Given the description of an element on the screen output the (x, y) to click on. 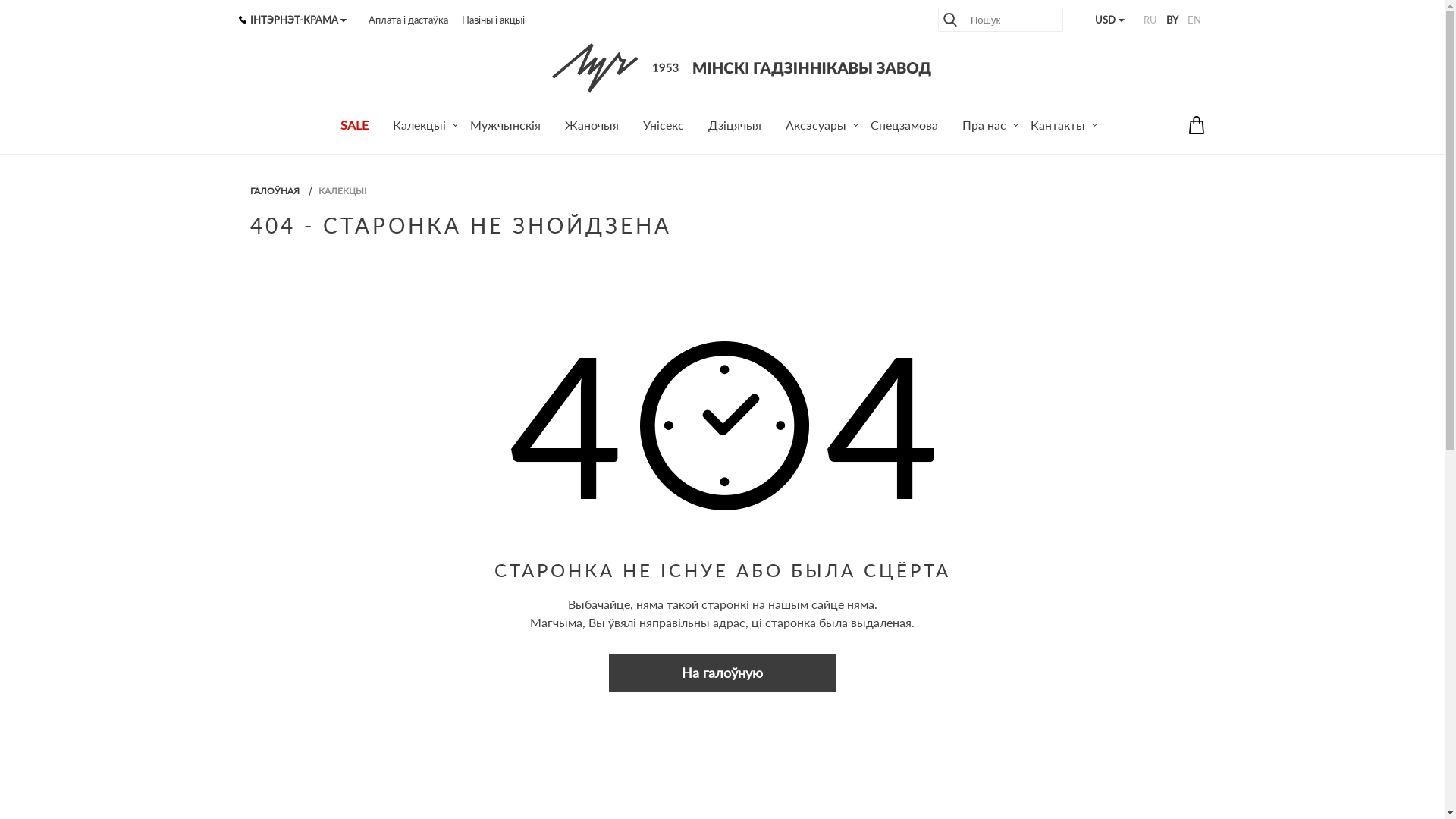
BY Element type: text (1172, 19)
EN Element type: text (1194, 19)
SALE Element type: text (354, 127)
RU Element type: text (1150, 19)
